Given the description of an element on the screen output the (x, y) to click on. 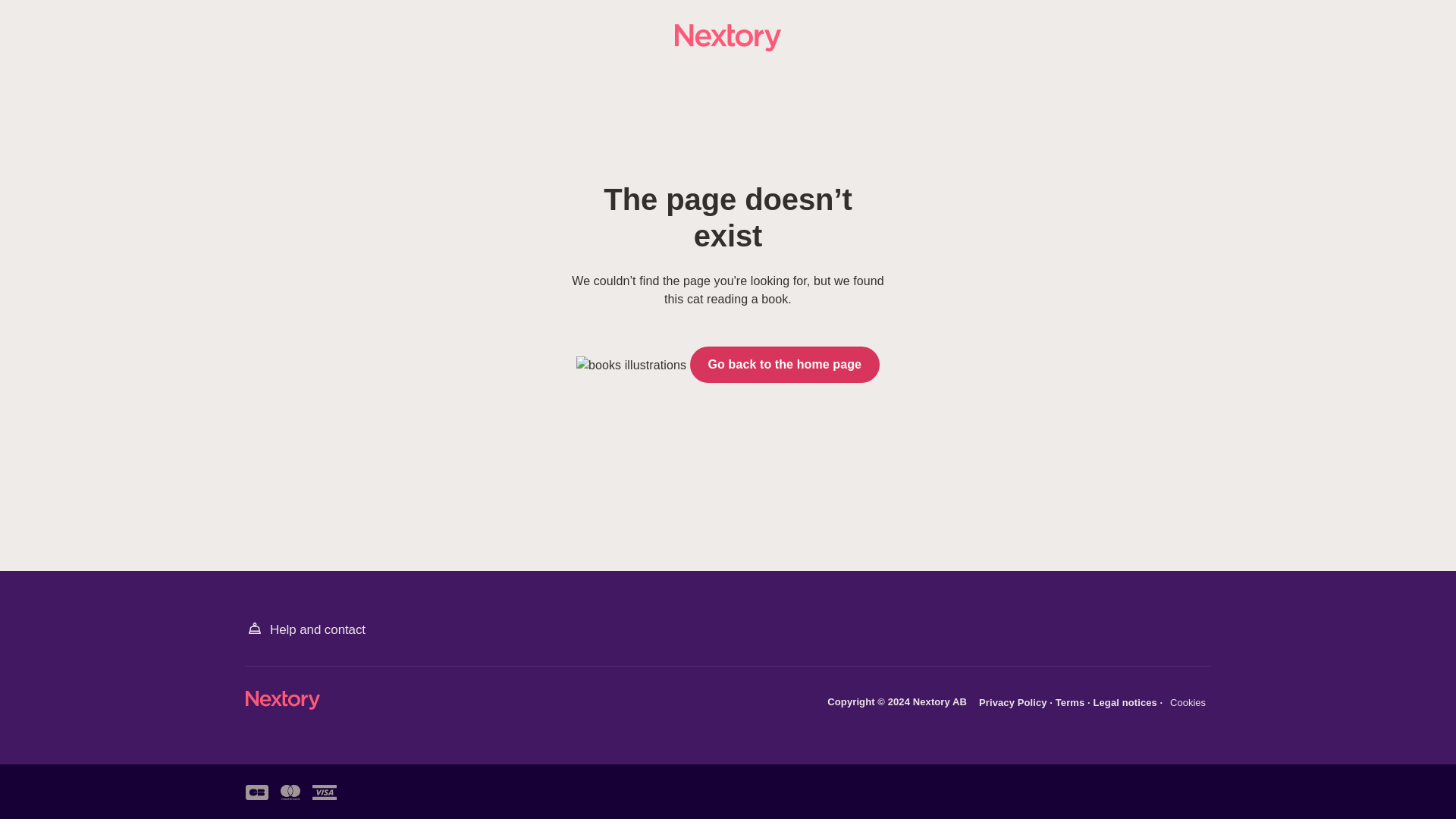
Privacy Policy (1013, 702)
Go back to the home page (784, 364)
Terms (1071, 702)
Carte Bancaire (256, 792)
Cookies (1187, 703)
Visa (324, 792)
Mastercard (290, 792)
Help and contact (305, 629)
Legal notices (1126, 702)
